Given the description of an element on the screen output the (x, y) to click on. 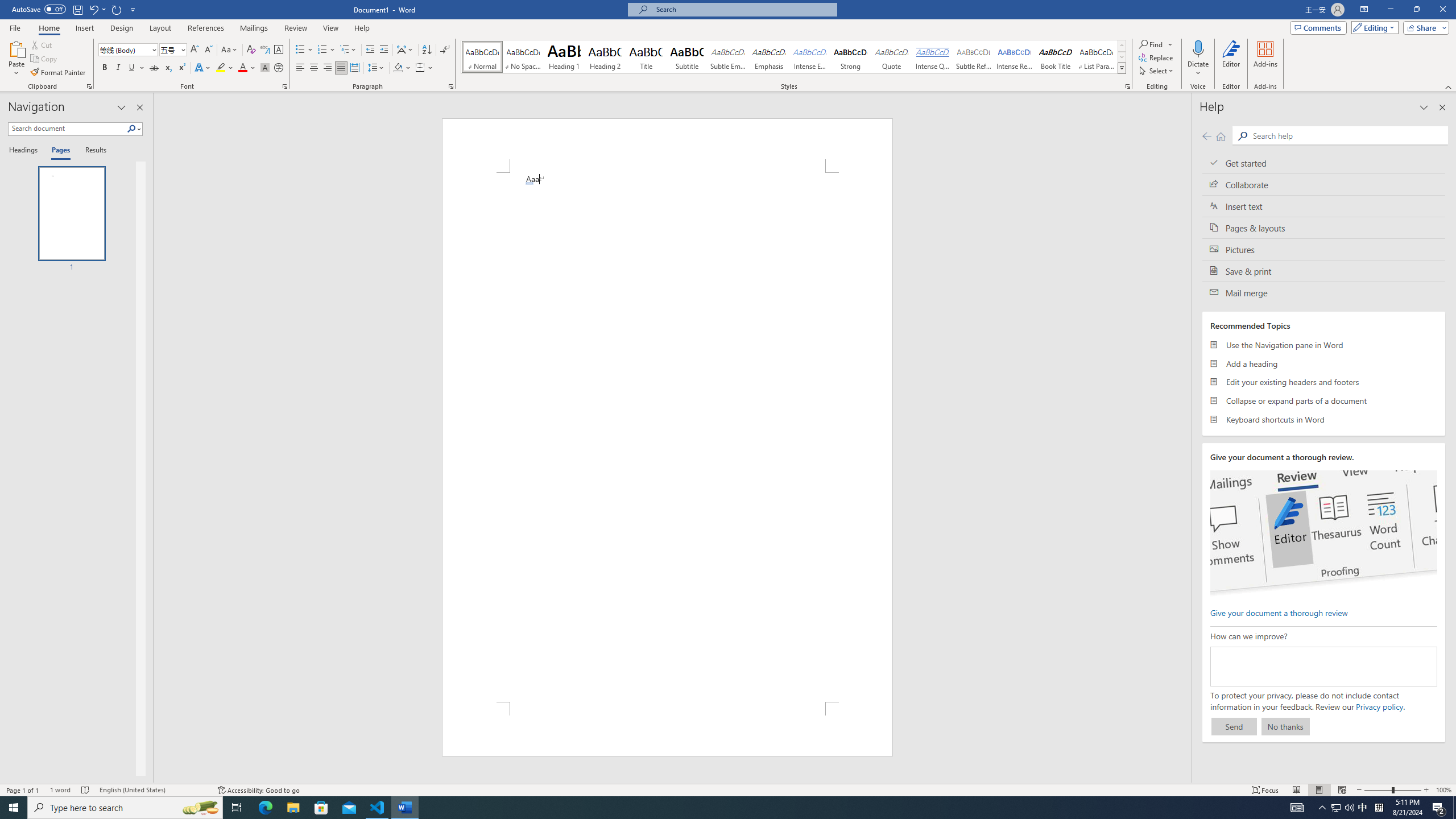
View (330, 28)
Strikethrough (154, 67)
Subtle Reference (973, 56)
Search (133, 128)
Class: NetUIScrollBar (1186, 437)
Edit your existing headers and footers (1323, 381)
Share (1423, 27)
Phonetic Guide... (264, 49)
Select (1157, 69)
Web Layout (1342, 790)
Pages (59, 150)
Zoom Out (1377, 790)
Justify (340, 67)
Superscript (180, 67)
Text Highlight Color Yellow (220, 67)
